Given the description of an element on the screen output the (x, y) to click on. 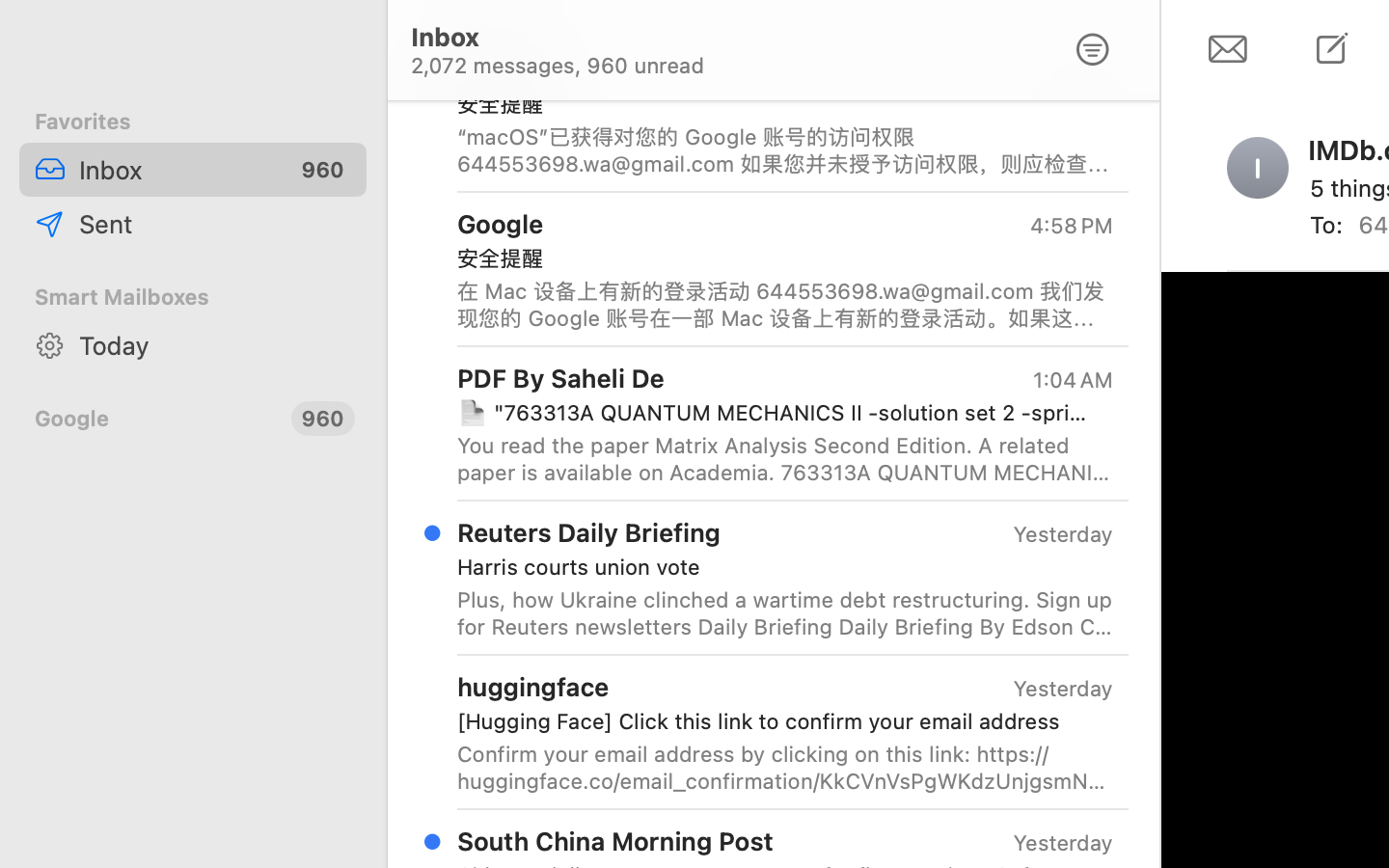
Plus, how Ukraine clinched a wartime debt restructuring. Sign up for Reuters newsletters Daily Briefing Daily Briefing By Edson Caldas Kamala Harris said that US Steel should remain in domestic hands, making a pitch to working-class voters in Pennsylvania who are also being courted by her rival Donald Trump. Elsewhere, we cover Britain's partial suspension of arms export licenses to Israel, and a slump in Intel's share price. Plus, why South Korea's beloved Kimchi is at risk. Today's Top News Kamala Harris with Joe Biden's first appearance together at a rally since she became the Democratic nominee. REUTERS/Quinn Glabicki US election Democratic presidential candidate Kamala Harris used campaign events in Michigan and Pennsylvania, two battleground states, to court the crucial labor vote. Harris has neutralized Donald Trump's edge on the economy among Hispanic voters, and her 13 percentage point lead within that group reflects the fact they vastly prefer her approach to healthcare and c Element type: AXStaticText (784, 613)
Inbox Element type: AXStaticText (177, 169)
0.0002546504013775374 Element type: AXValueIndicator (1147, 127)
0 Element type: AXCheckBox (1092, 50)
Google Element type: AXStaticText (154, 418)
